Given the description of an element on the screen output the (x, y) to click on. 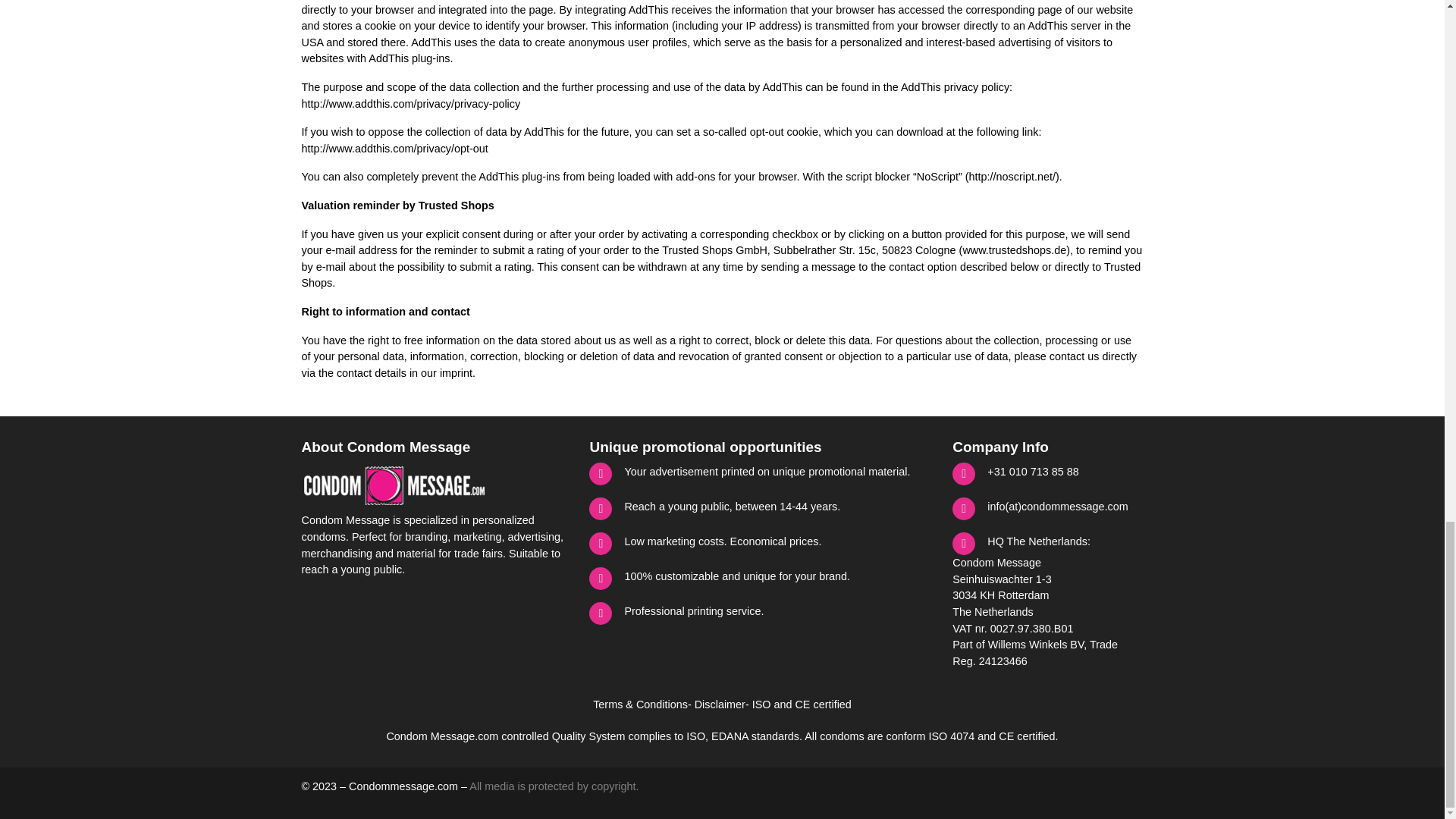
- Disclaimer (716, 704)
- ISO and CE certified (798, 704)
All media is protected by copyright. (553, 786)
